Given the description of an element on the screen output the (x, y) to click on. 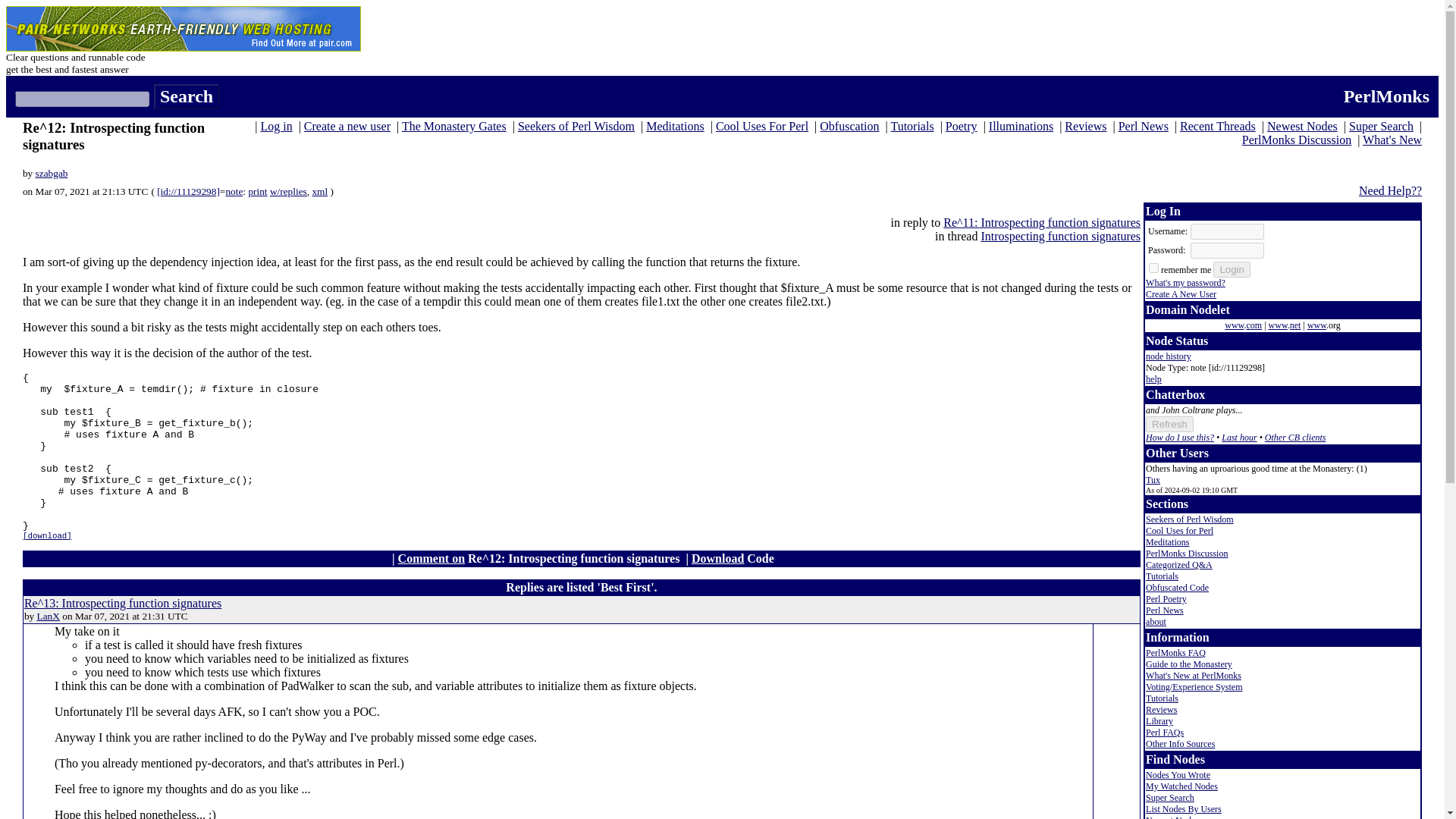
Perl News (1143, 125)
Cool Uses For Perl (762, 125)
xml (319, 191)
Search (186, 96)
Super Search (1381, 125)
Poetry (960, 125)
Tutorials (911, 125)
Log in (276, 125)
Login (1231, 269)
Reviews (1085, 125)
